Given the description of an element on the screen output the (x, y) to click on. 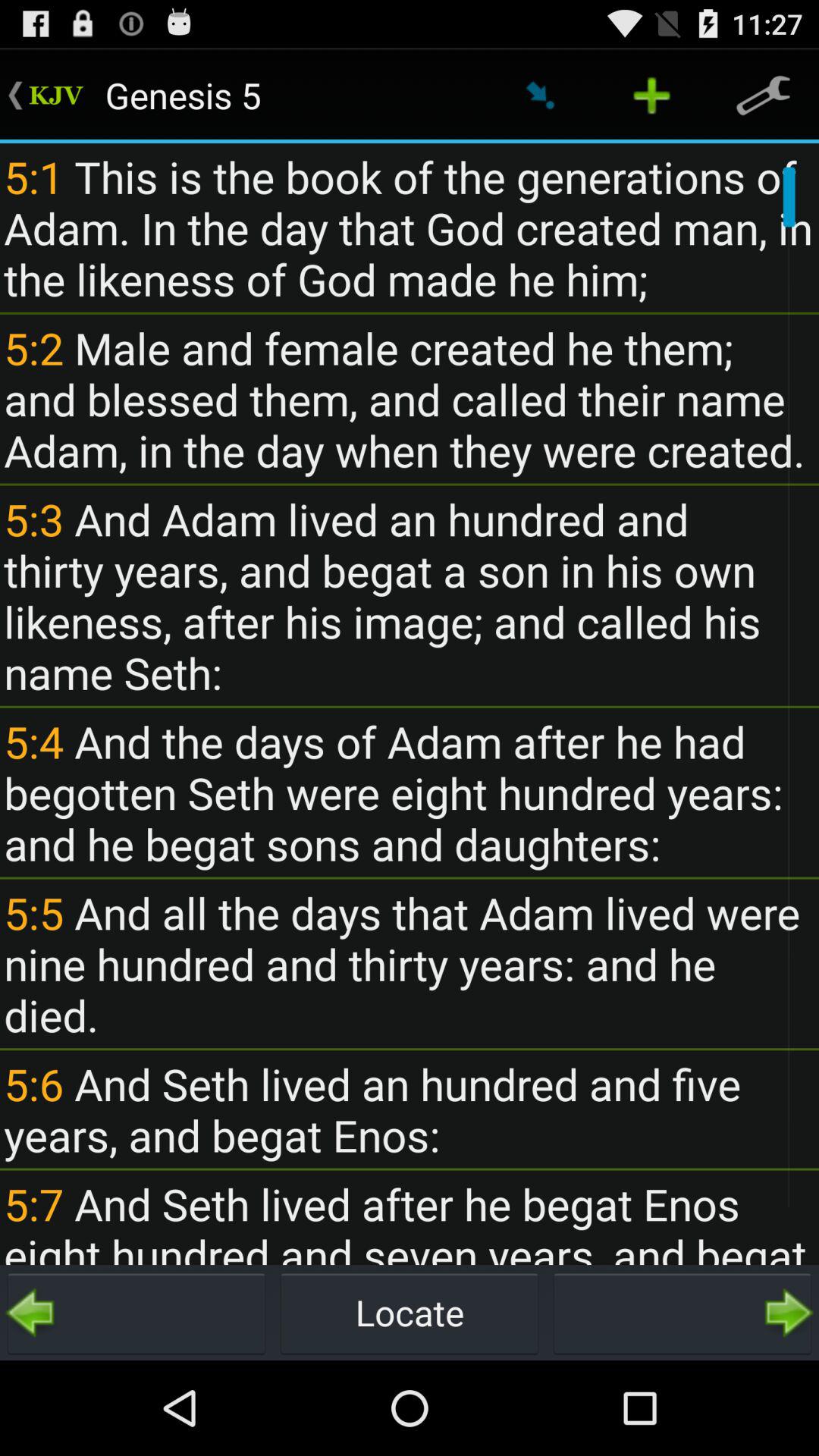
next page (682, 1312)
